Given the description of an element on the screen output the (x, y) to click on. 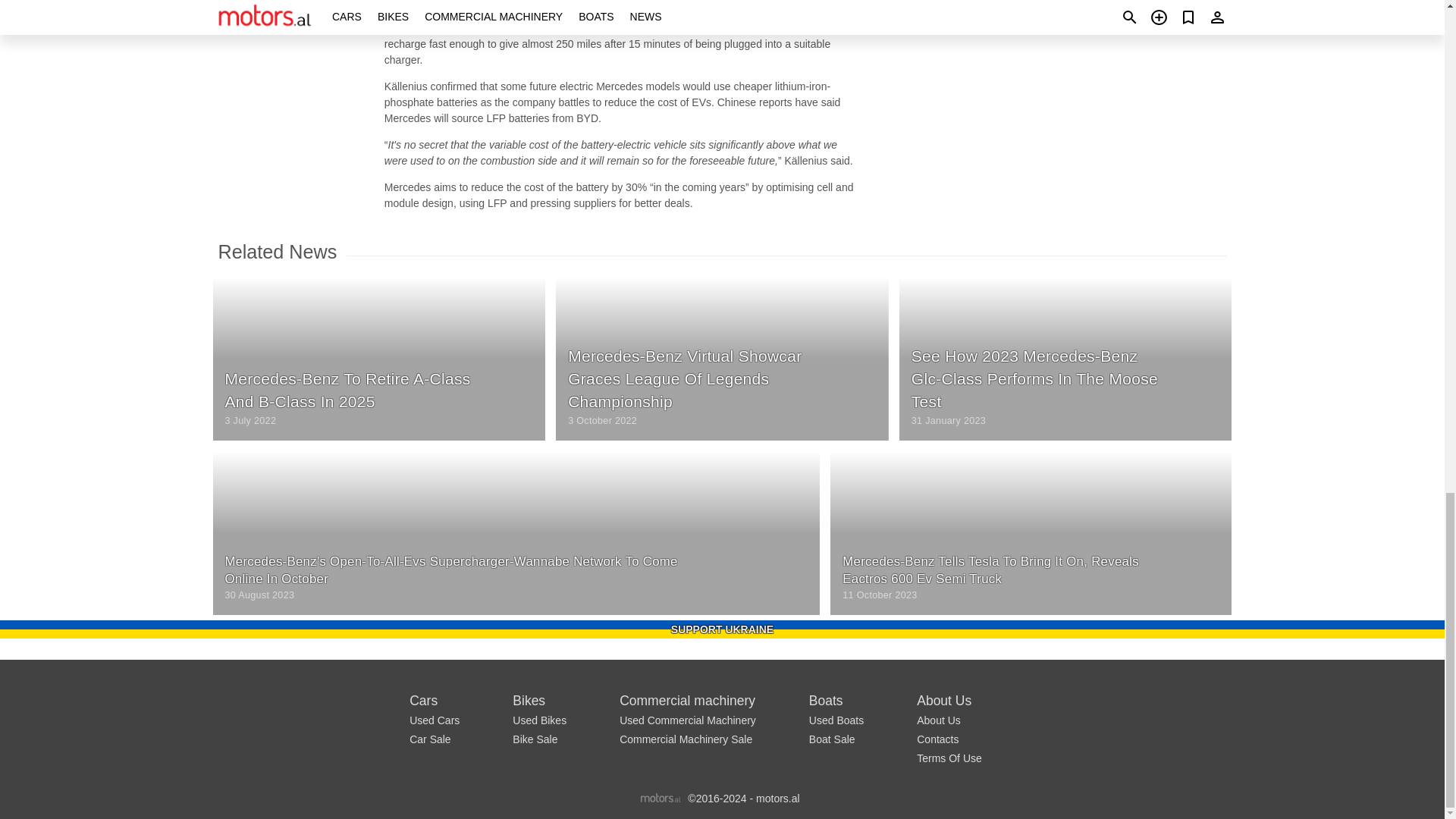
Terms Of Use (949, 758)
Used Cars (434, 720)
Boat Sale (832, 739)
Commercial Machinery Sale (686, 739)
Contacts (937, 739)
Used Bikes (539, 720)
Used Boats (836, 720)
Bike Sale (534, 739)
Car Sale (429, 739)
Used Commercial Machinery (687, 720)
About Us (938, 720)
